Given the description of an element on the screen output the (x, y) to click on. 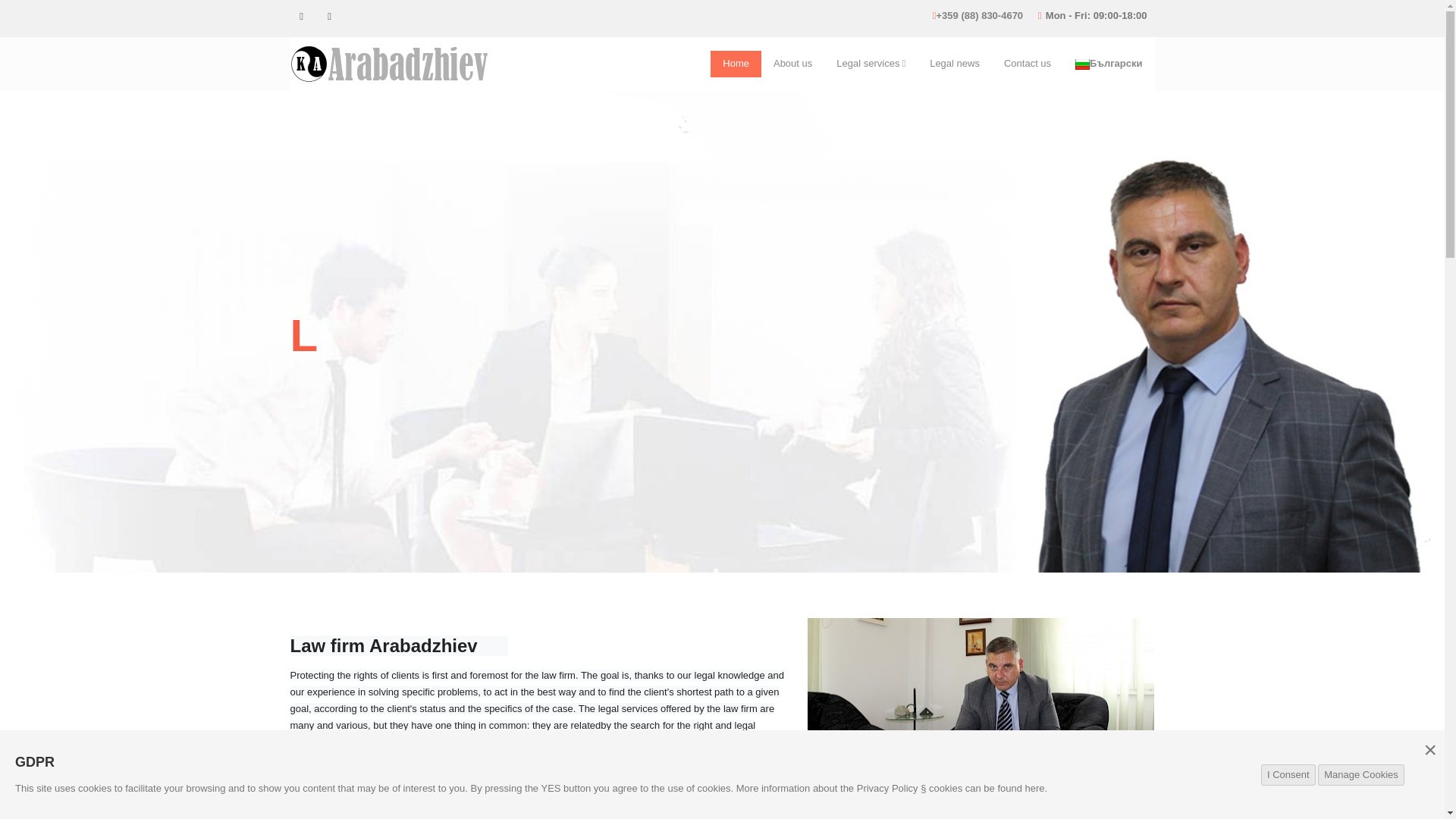
Manage Cookies (1361, 774)
I Consent (1288, 774)
Contact us (1026, 63)
Legal services (870, 63)
Home (735, 63)
About us (792, 63)
Legal news (954, 63)
